Given the description of an element on the screen output the (x, y) to click on. 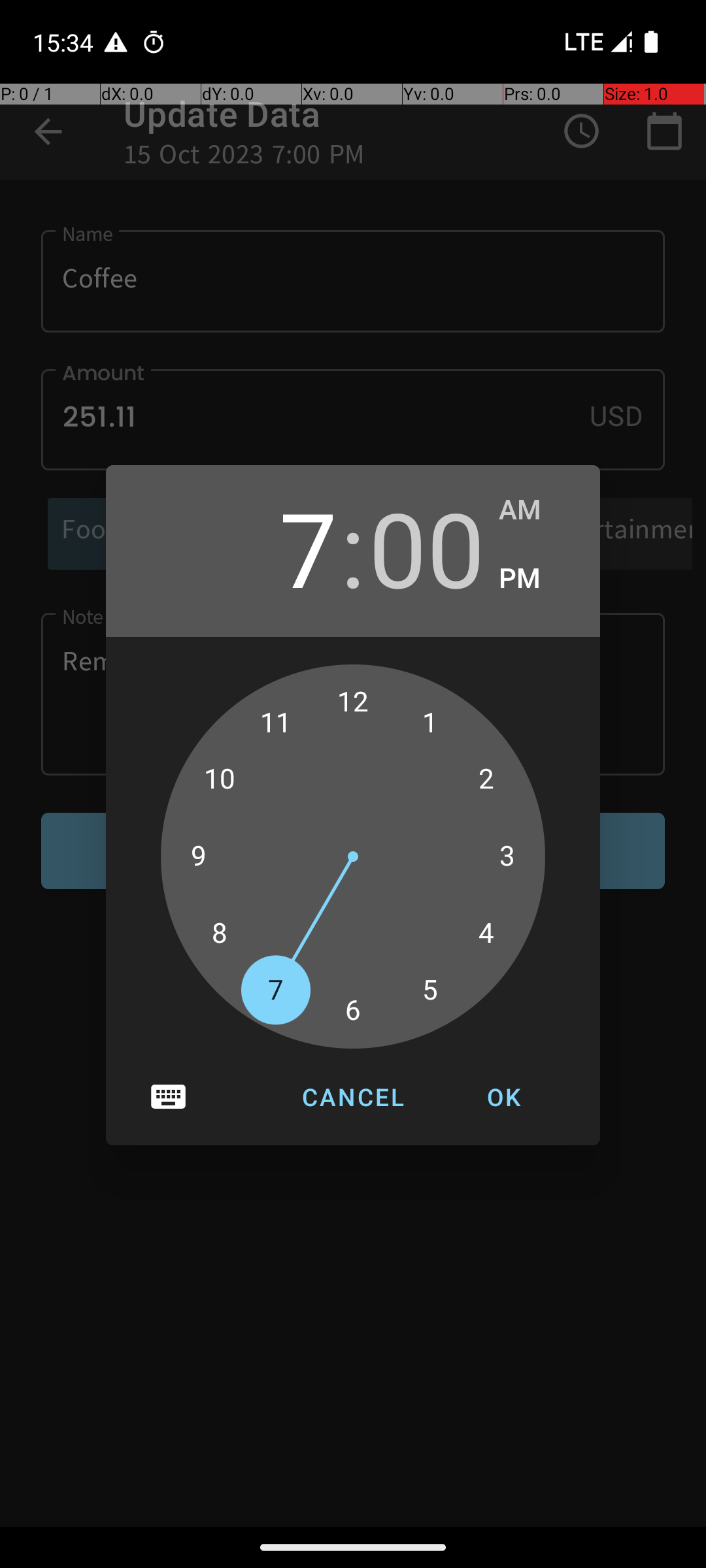
11 Element type: android.widget.RadialTimePickerView$RadialPickerTouchHelper (275, 722)
12 Element type: android.widget.RadialTimePickerView$RadialPickerTouchHelper (352, 701)
CANCEL Element type: android.widget.Button (352, 1096)
AM Element type: android.widget.RadioButton (535, 510)
PM Element type: android.widget.RadioButton (535, 578)
